Given the description of an element on the screen output the (x, y) to click on. 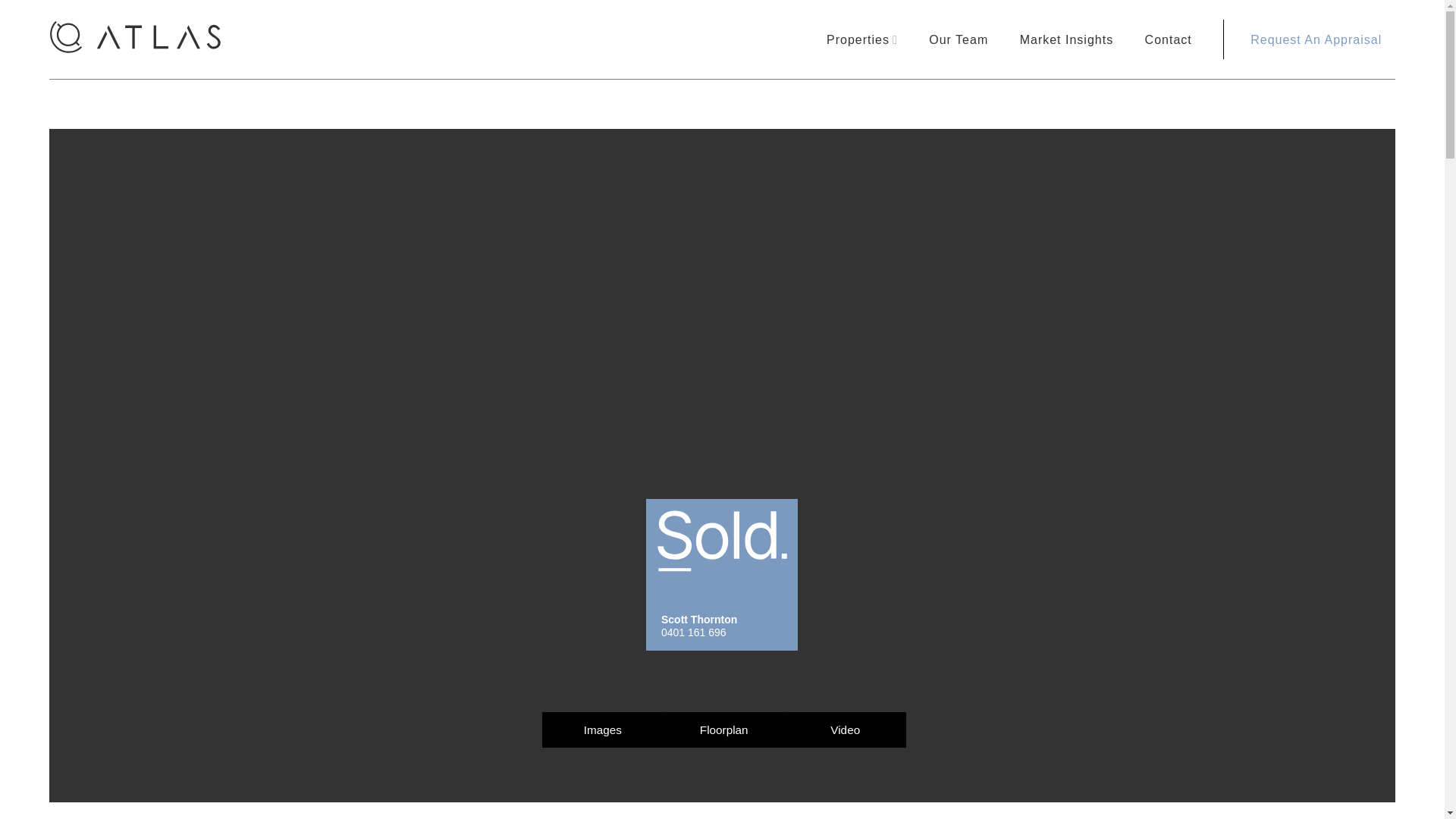
Contact (1168, 39)
Request An Appraisal (721, 574)
Images (1308, 39)
Properties (602, 728)
Send Message (861, 39)
Floorplan (722, 358)
Our Team (723, 728)
Video (958, 39)
Market Insights (844, 728)
